Given the description of an element on the screen output the (x, y) to click on. 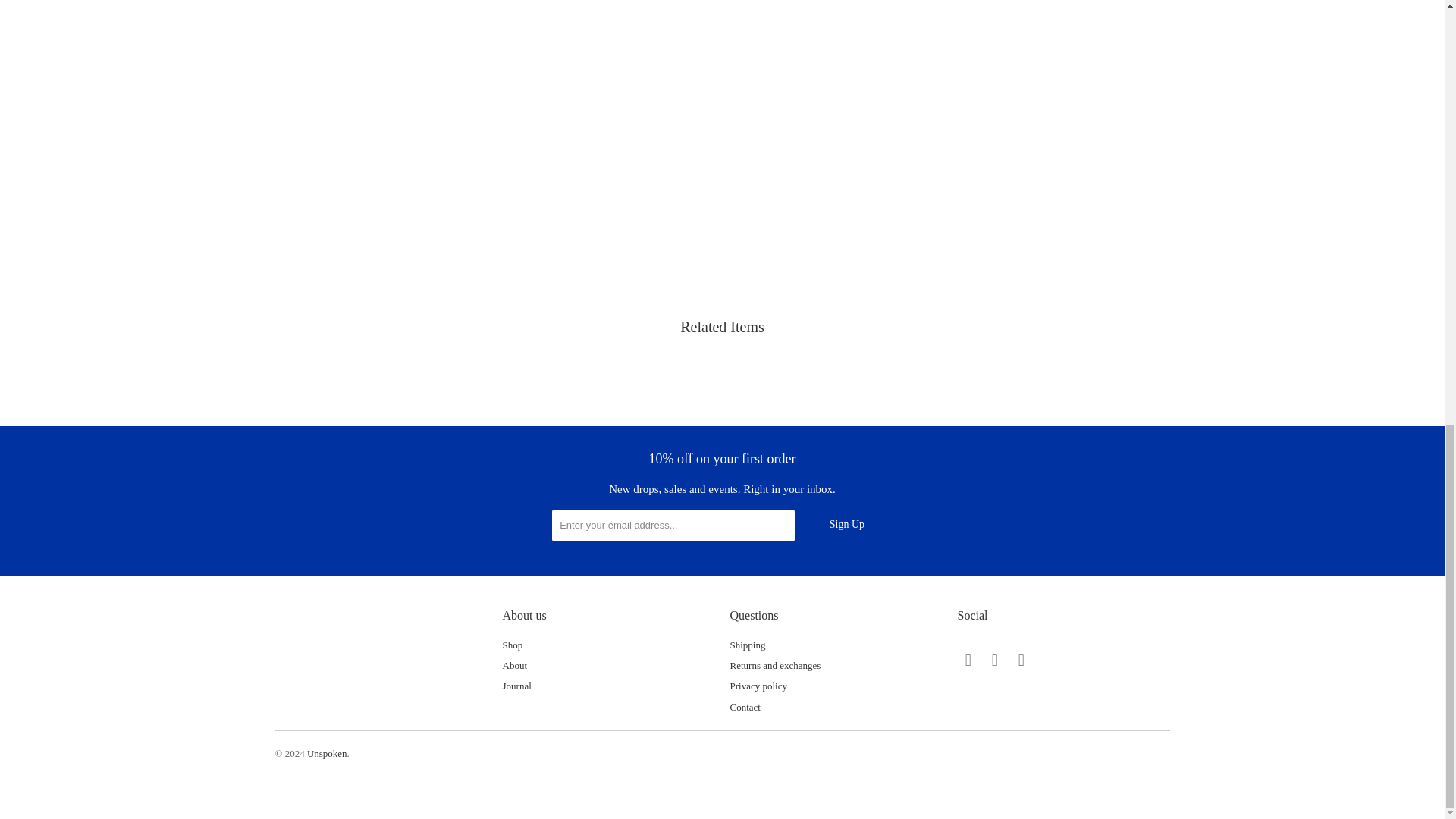
Sign Up (847, 525)
Unspoken on Twitter (967, 660)
Unspoken on Facebook (995, 660)
Unspoken on Instagram (1021, 660)
